Given the description of an element on the screen output the (x, y) to click on. 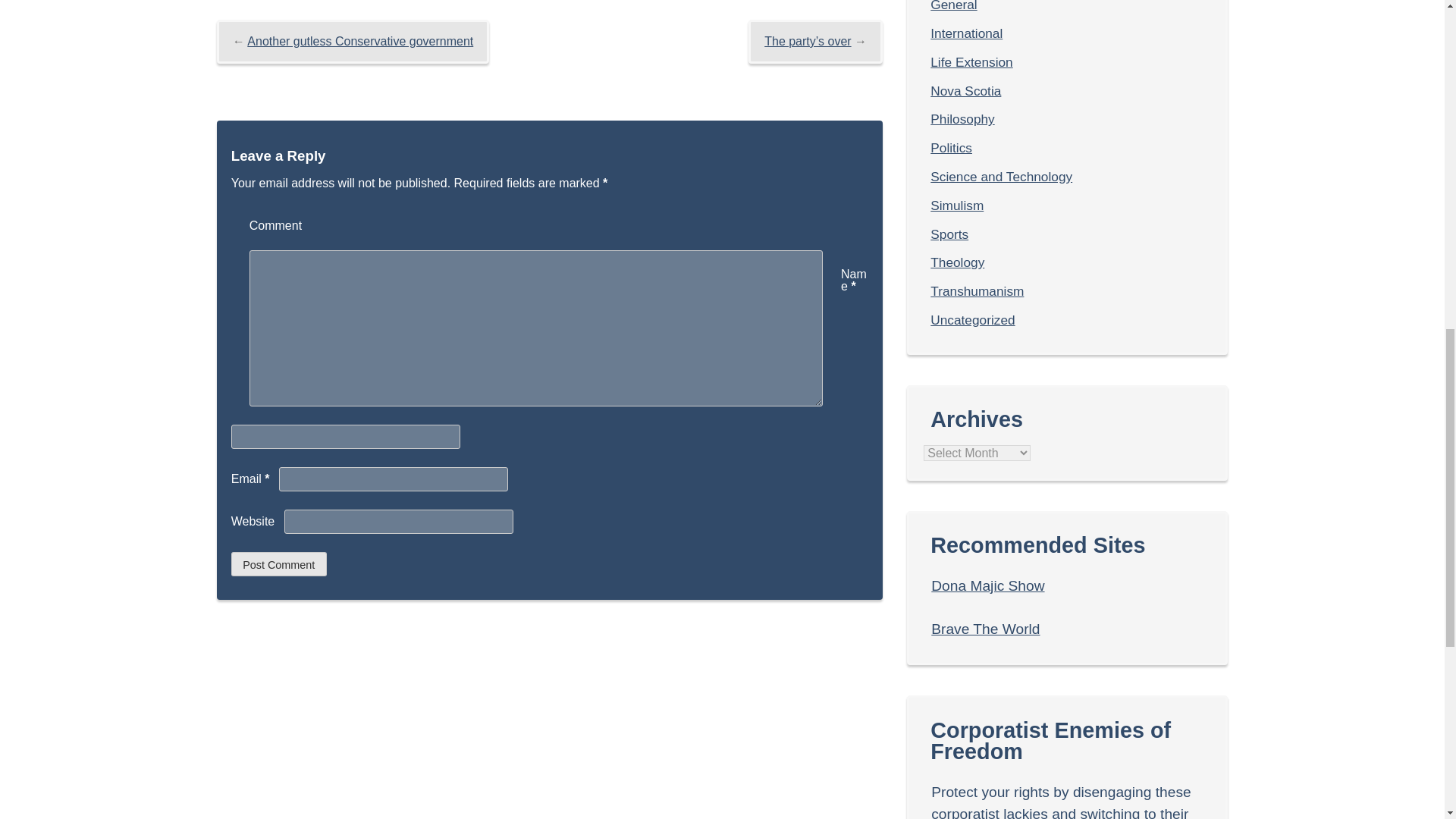
Science and Technology (1000, 176)
Another gutless Conservative government (360, 41)
Nova Scotia (965, 90)
Life Extension (970, 61)
Philosophy (962, 118)
General (953, 6)
Sports (949, 233)
Uncategorized (972, 319)
International (966, 32)
Theology (957, 262)
Post Comment (278, 564)
Post Comment (278, 564)
Transhumanism (976, 290)
Simulism (957, 205)
Brave The World (985, 628)
